Given the description of an element on the screen output the (x, y) to click on. 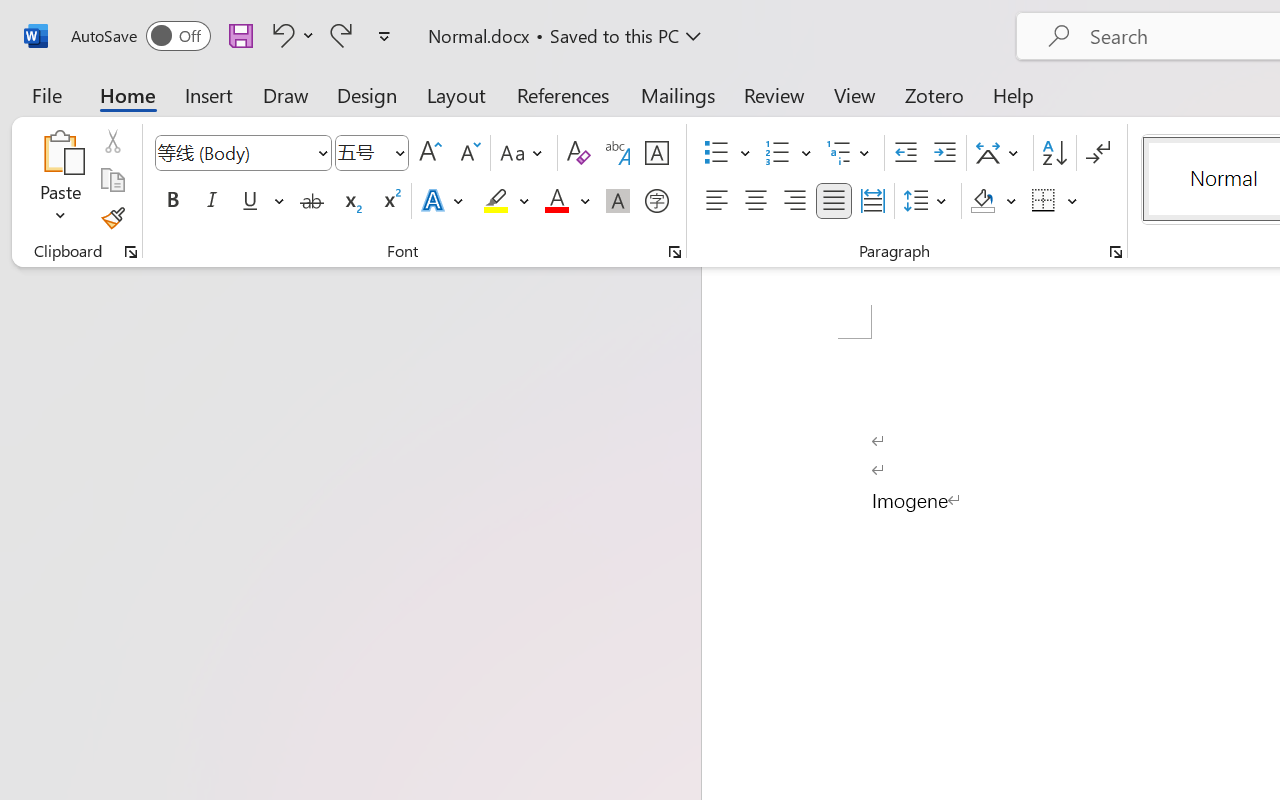
Sort... (1054, 153)
Phonetic Guide... (618, 153)
Shading RGB(0, 0, 0) (982, 201)
Office Clipboard... (131, 252)
Character Shading (618, 201)
Font Color (567, 201)
Enclose Characters... (656, 201)
Strikethrough (312, 201)
Show/Hide Editing Marks (1098, 153)
